Given the description of an element on the screen output the (x, y) to click on. 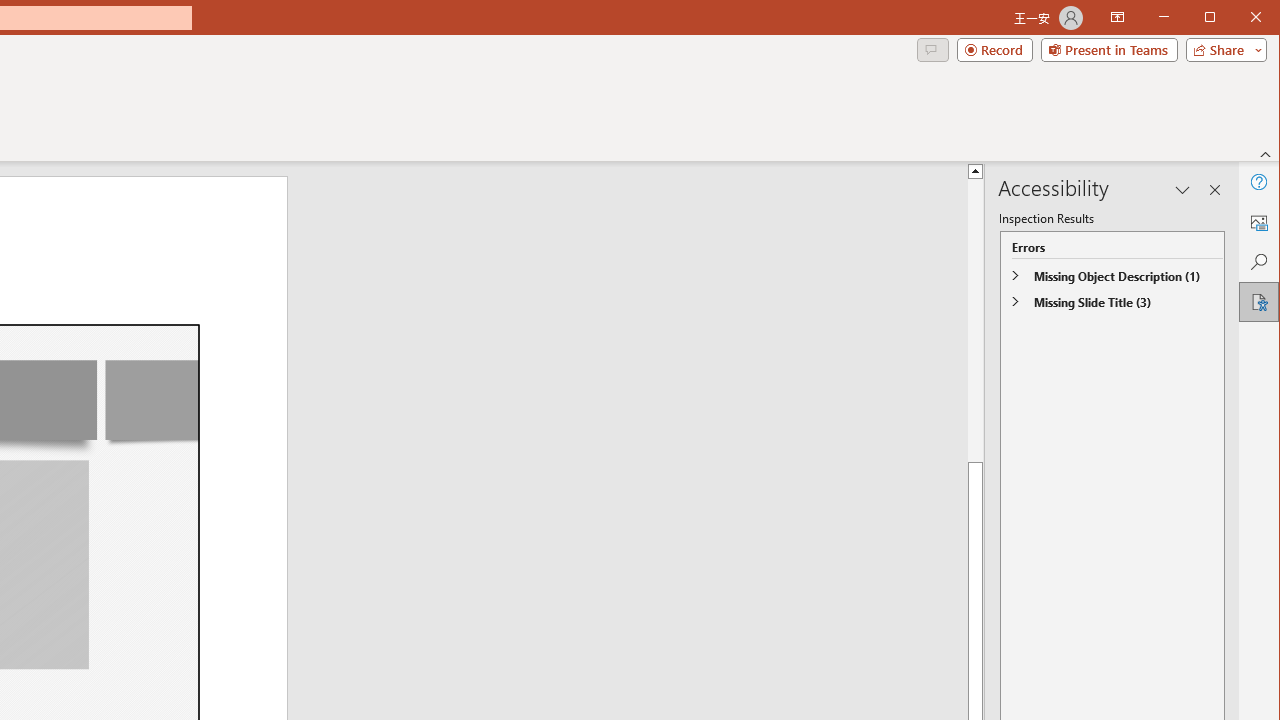
Maximize (1238, 18)
Alt Text (1258, 221)
